Given the description of an element on the screen output the (x, y) to click on. 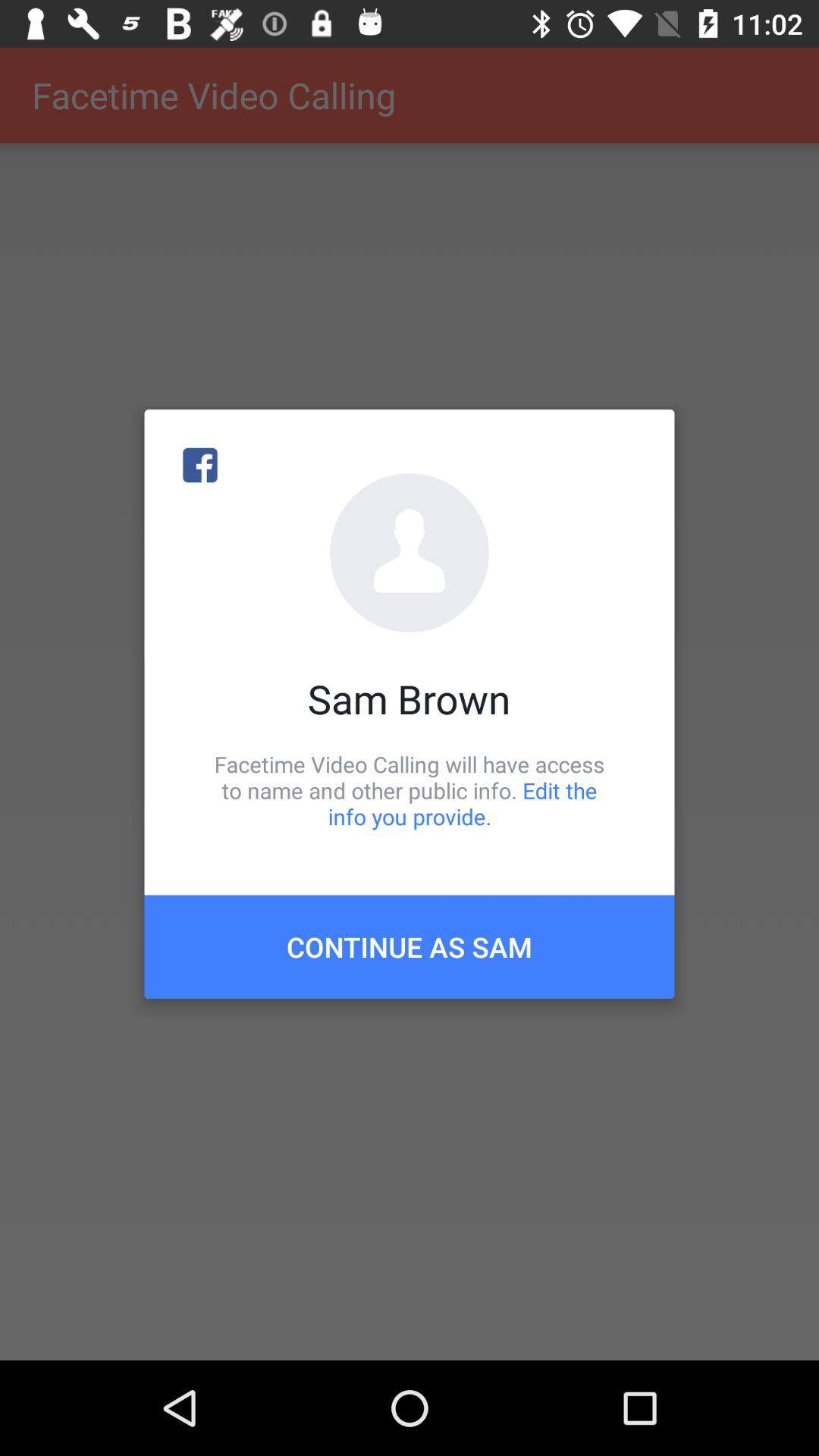
jump to facetime video calling item (409, 790)
